Given the description of an element on the screen output the (x, y) to click on. 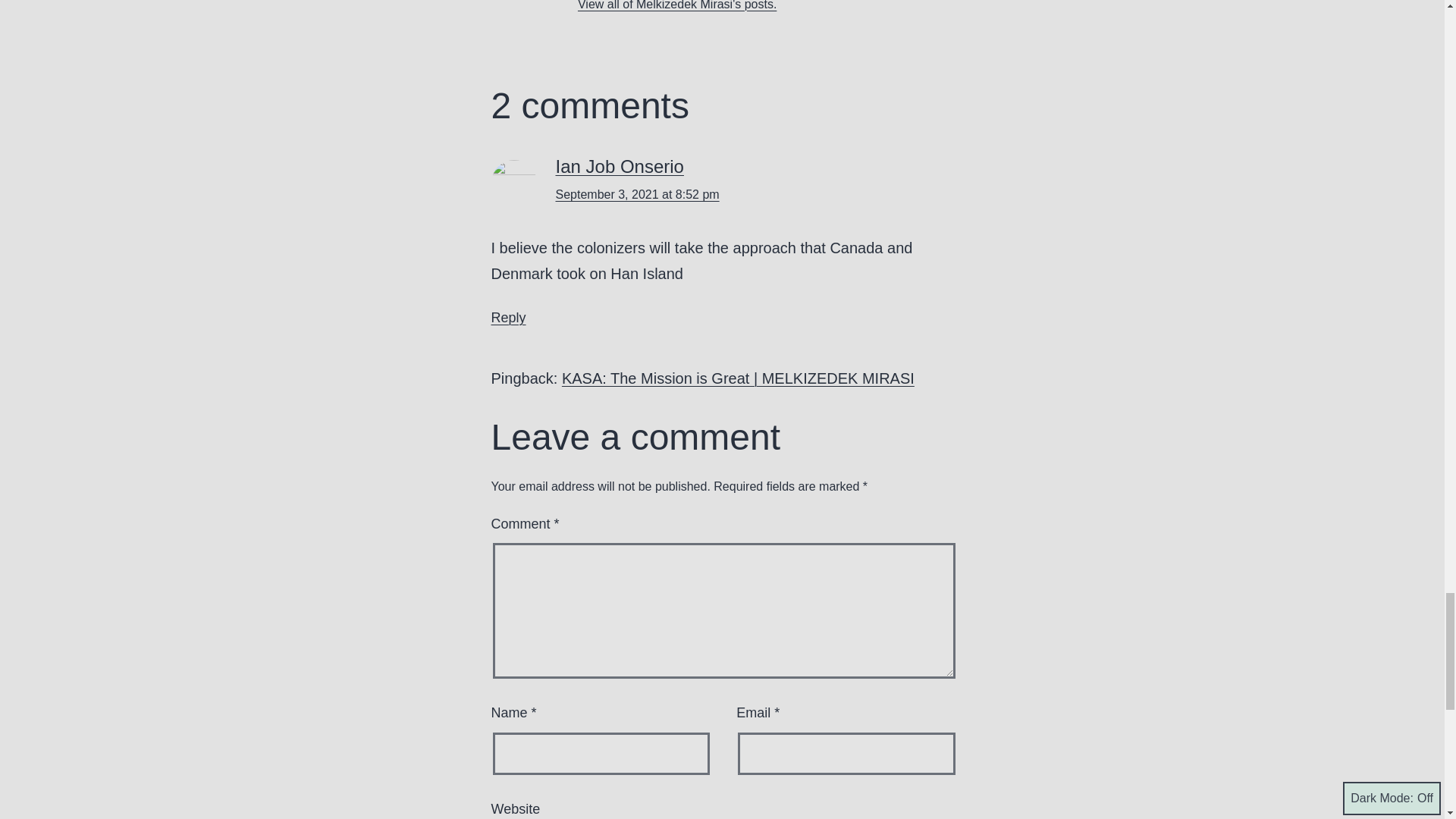
Reply (508, 317)
September 3, 2021 at 8:52 pm (636, 194)
Ian Job Onserio (618, 166)
View all of Melkizedek Mirasi's posts. (677, 5)
